Given the description of an element on the screen output the (x, y) to click on. 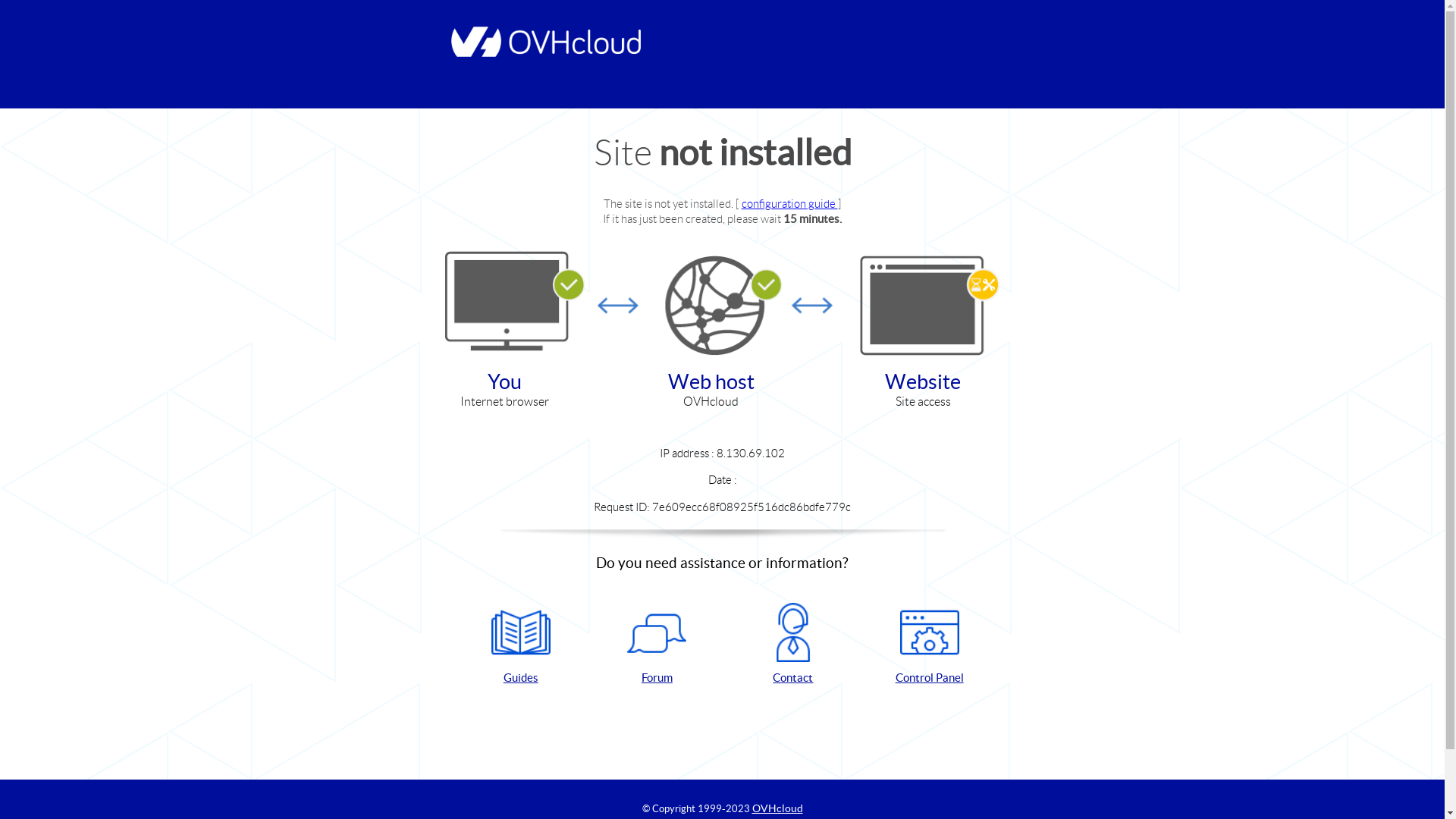
Guides Element type: text (520, 644)
Contact Element type: text (792, 644)
Forum Element type: text (656, 644)
Control Panel Element type: text (929, 644)
OVHcloud Element type: text (777, 808)
configuration guide Element type: text (789, 203)
